Given the description of an element on the screen output the (x, y) to click on. 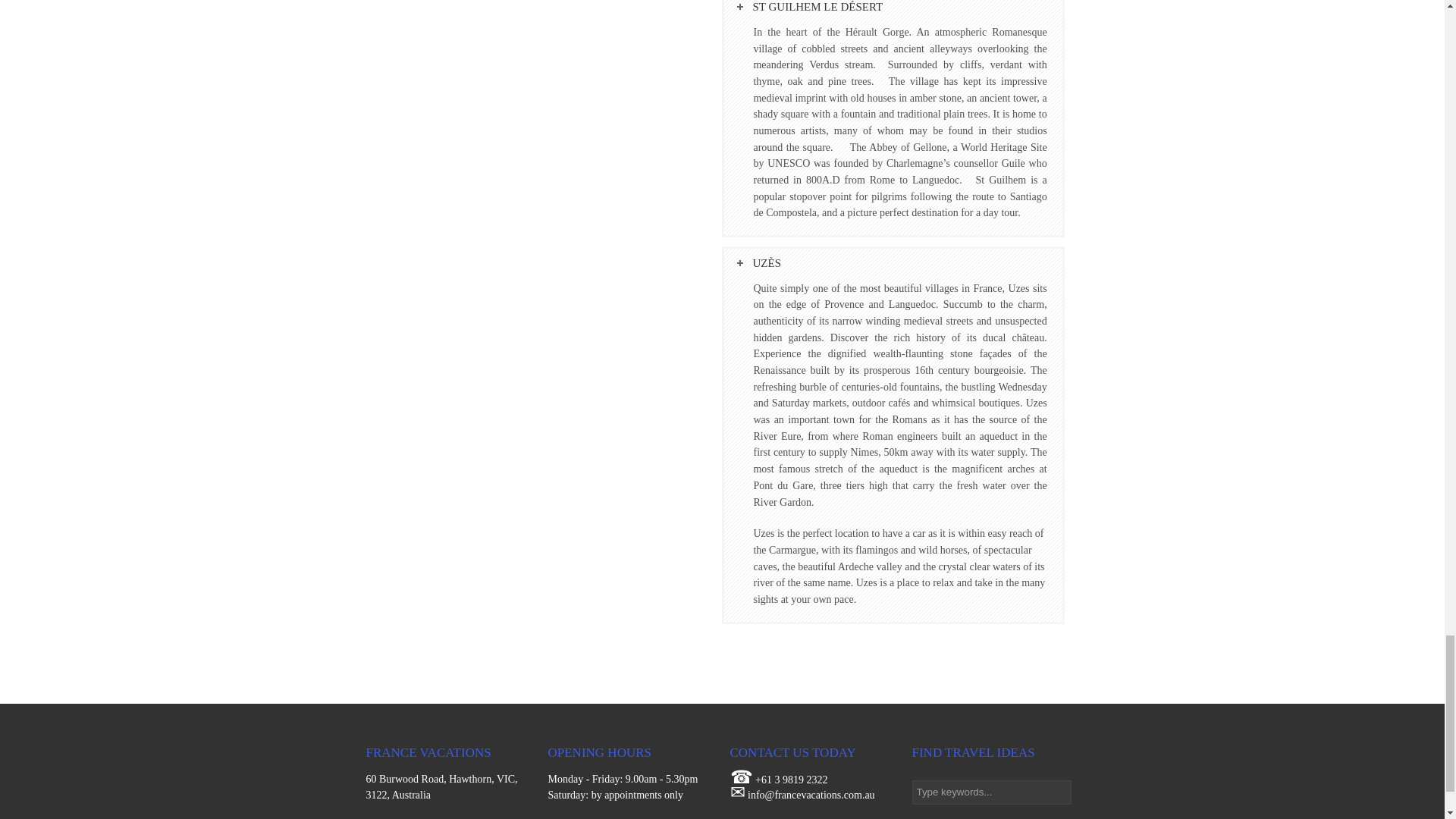
60 Burwood Road, Hawthorn, VIC, 3122, Australia (440, 787)
Maps (440, 787)
Type keywords... (990, 792)
